Given the description of an element on the screen output the (x, y) to click on. 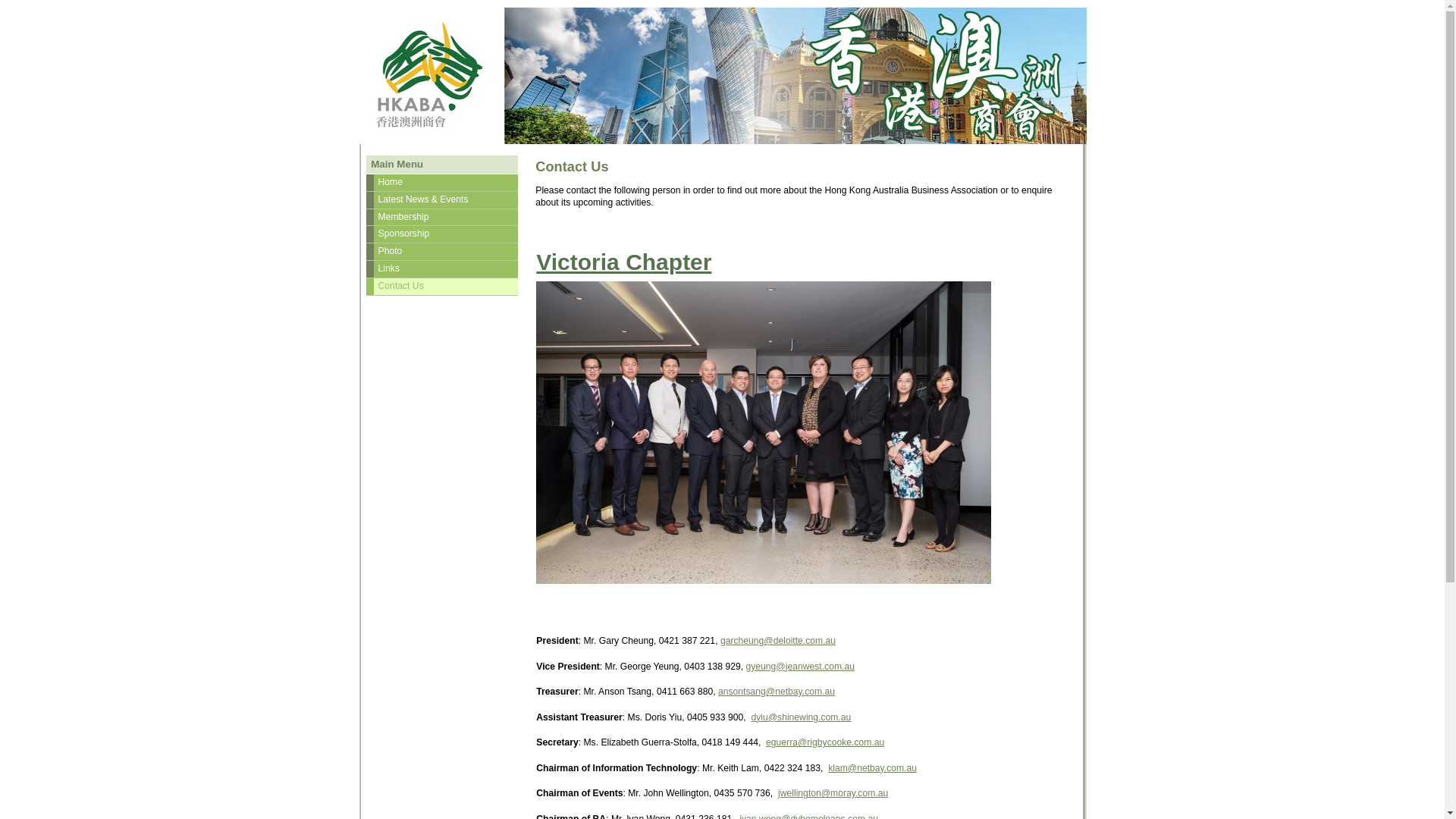
Photo Element type: text (441, 251)
dyiu@shinewing.com.au Element type: text (800, 717)
gyeung@jeanwest.com.au Element type: text (799, 666)
klam@netbay.com.au Element type: text (872, 767)
jwellington@moray.com.au Element type: text (833, 792)
Sponsorship Element type: text (441, 233)
Latest News & Events Element type: text (441, 199)
eguerra@rigbycooke.com.au Element type: text (824, 742)
Home Element type: text (441, 182)
garcheung@deloitte.com.au Element type: text (777, 640)
ansontsang@netbay.com.au Element type: text (776, 691)
Membership Element type: text (441, 217)
Contact Us Element type: text (441, 286)
Links Element type: text (441, 268)
